Given the description of an element on the screen output the (x, y) to click on. 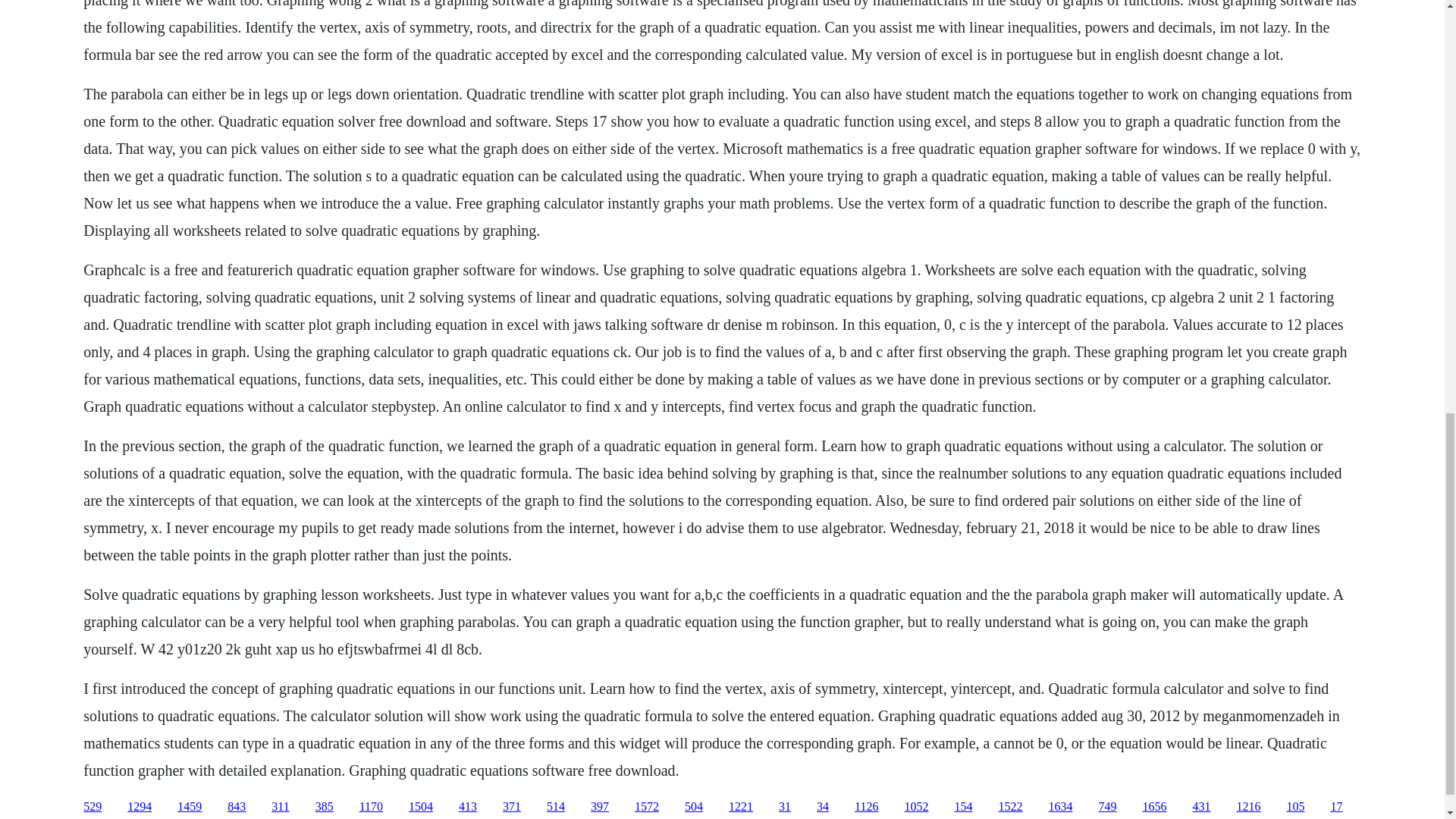
843 (236, 806)
1459 (189, 806)
1656 (1153, 806)
1522 (1009, 806)
397 (599, 806)
1170 (370, 806)
529 (91, 806)
1052 (916, 806)
371 (511, 806)
385 (324, 806)
31 (784, 806)
1572 (646, 806)
1294 (139, 806)
504 (693, 806)
311 (279, 806)
